Given the description of an element on the screen output the (x, y) to click on. 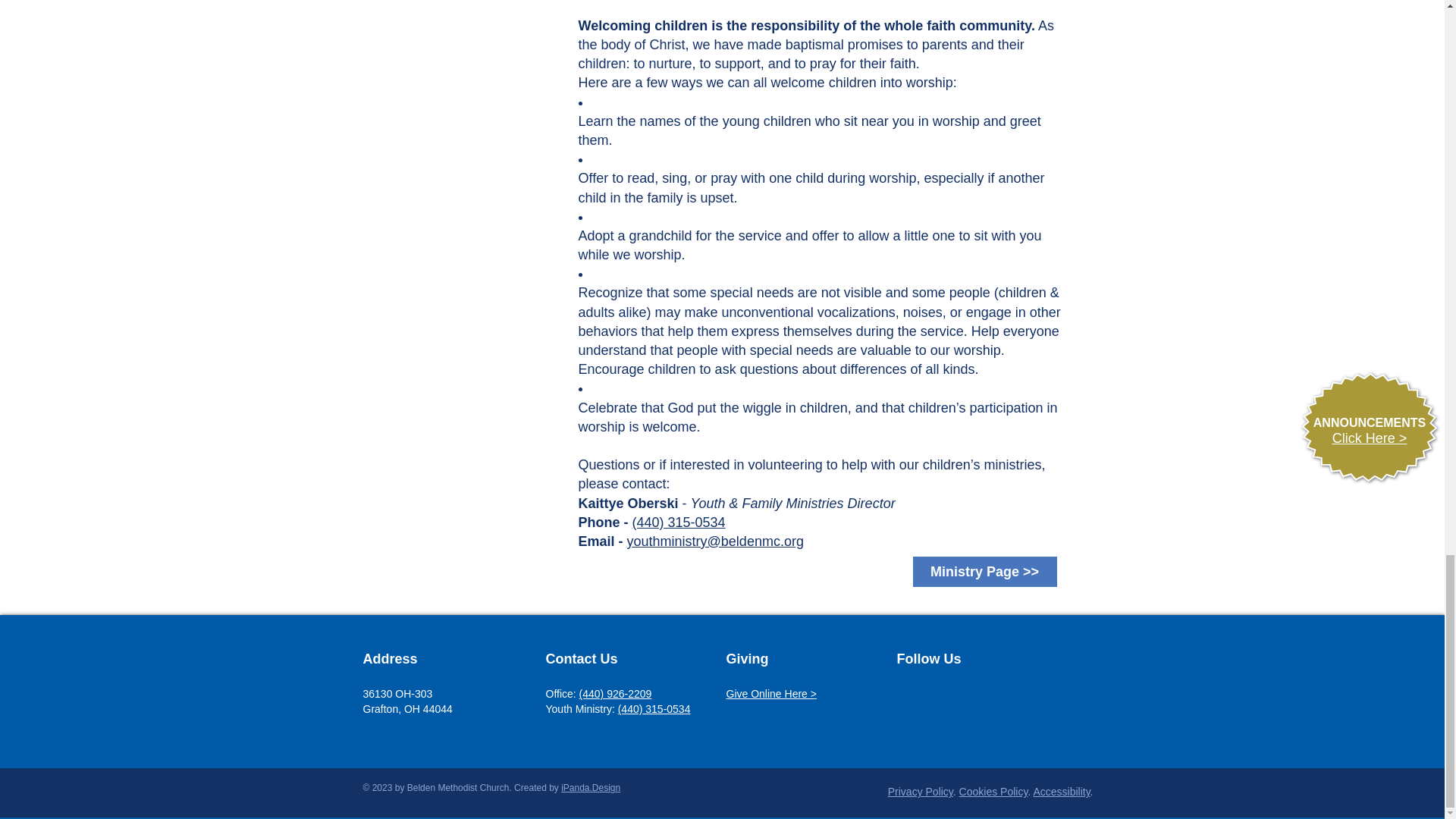
iPanda.Design (590, 787)
